Given the description of an element on the screen output the (x, y) to click on. 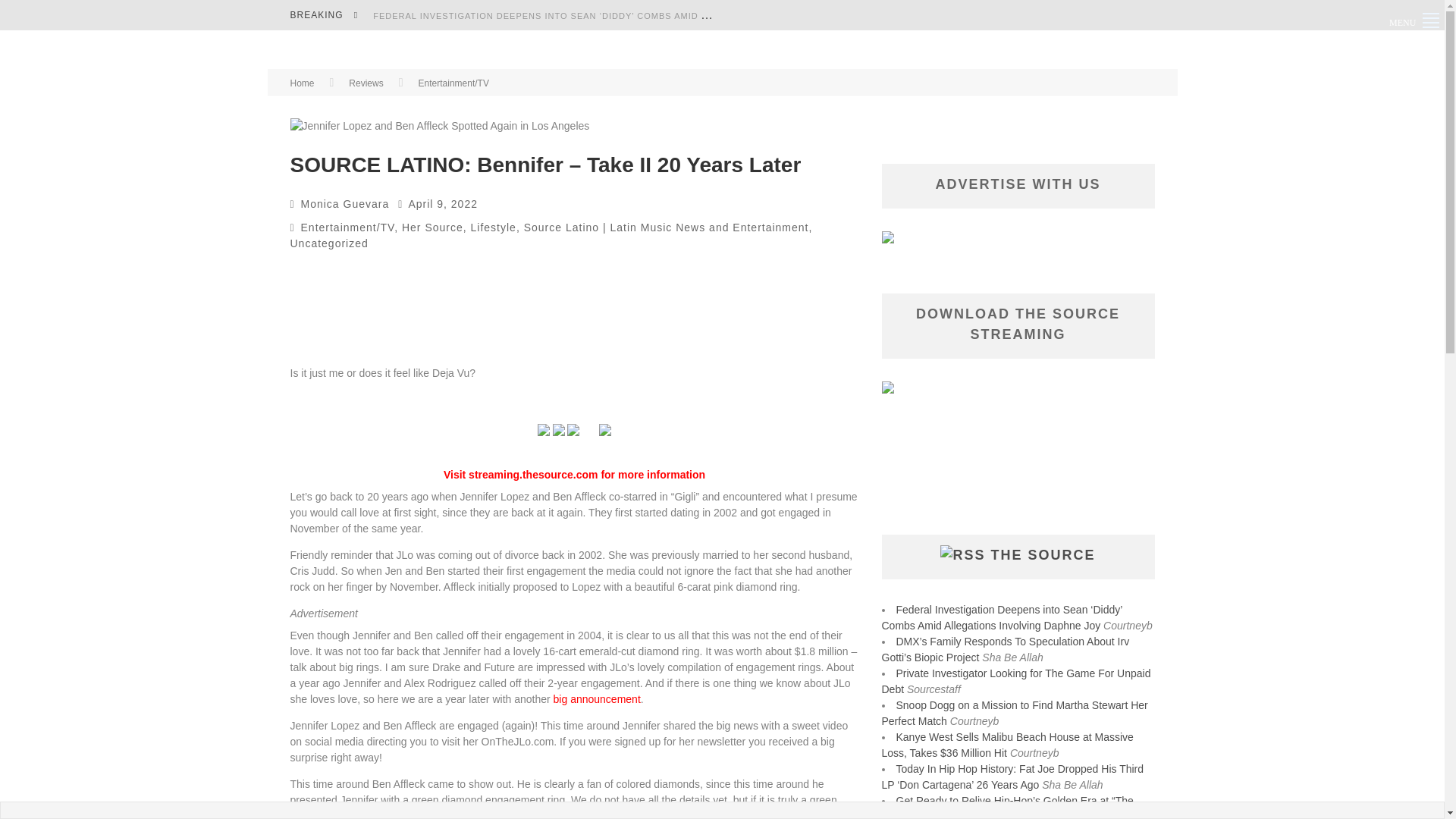
Reviews (365, 82)
View all posts in Reviews (365, 82)
View all posts in Lifestyle (493, 227)
Visit streaming.thesource.com for more information (574, 474)
Lifestyle (493, 227)
View all posts in Her Source (432, 227)
Uncategorized (328, 243)
View all posts in Uncategorized (328, 243)
big announcement (596, 698)
